Given the description of an element on the screen output the (x, y) to click on. 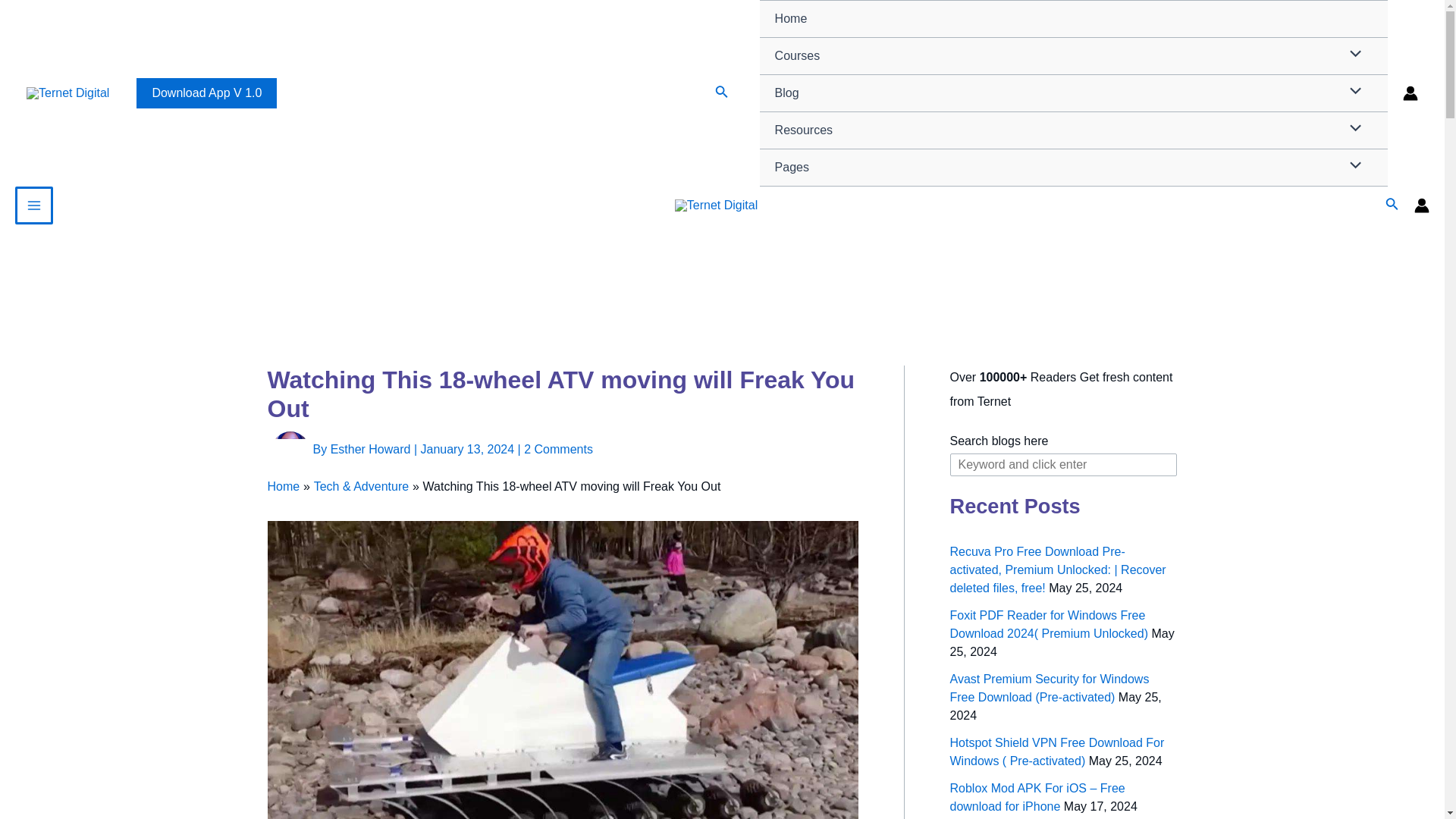
Home (1073, 18)
Menu Toggle (1352, 92)
Download App V 1.0 (206, 92)
Menu Toggle (1352, 54)
View all posts by Esther Howard (371, 449)
Resources (1073, 130)
Blog (1073, 93)
Pages (1073, 167)
Menu Toggle (1352, 129)
Courses (1073, 56)
